Given the description of an element on the screen output the (x, y) to click on. 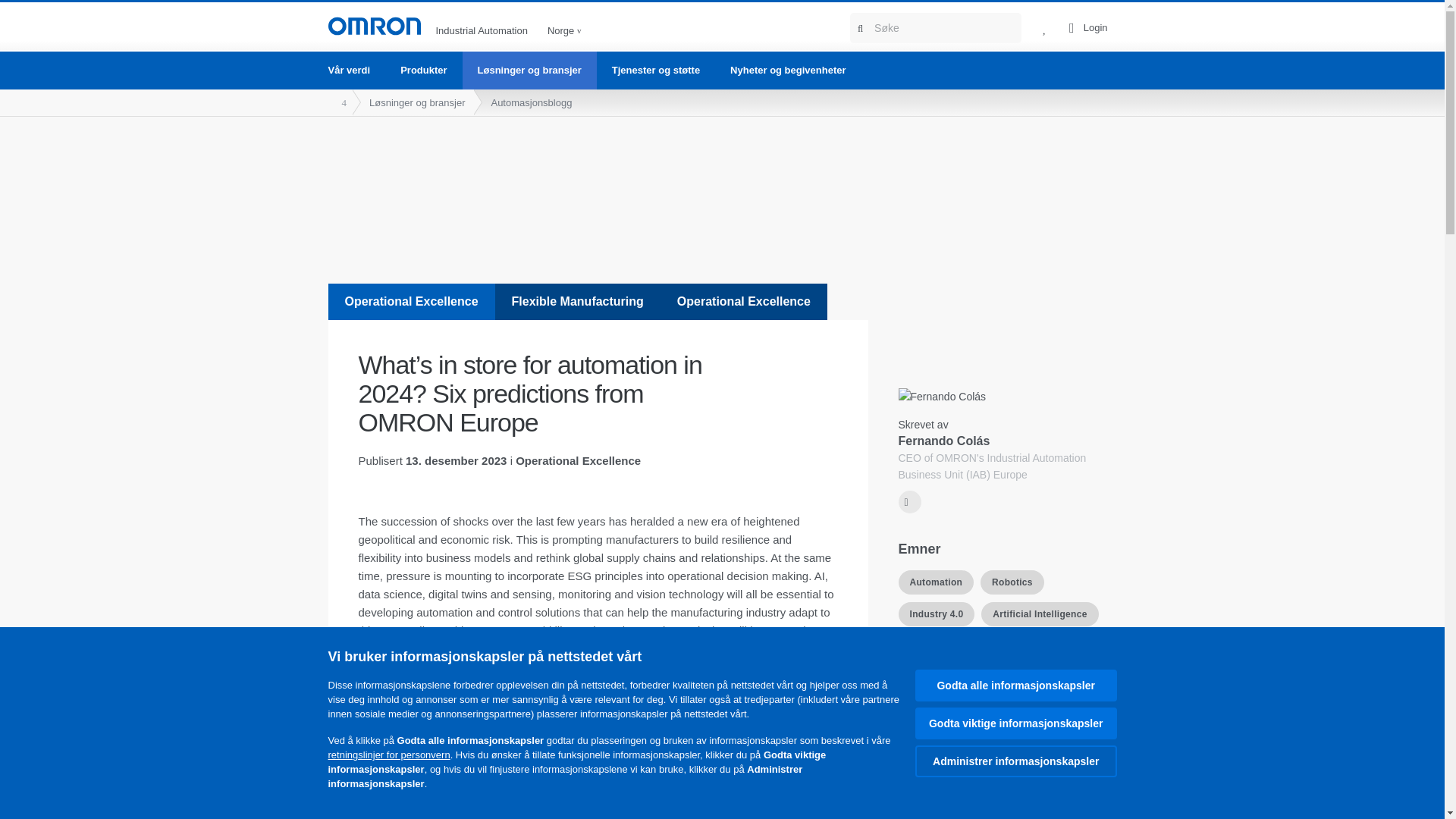
Retningslinjer for informasjonskapsler (388, 754)
